Given the description of an element on the screen output the (x, y) to click on. 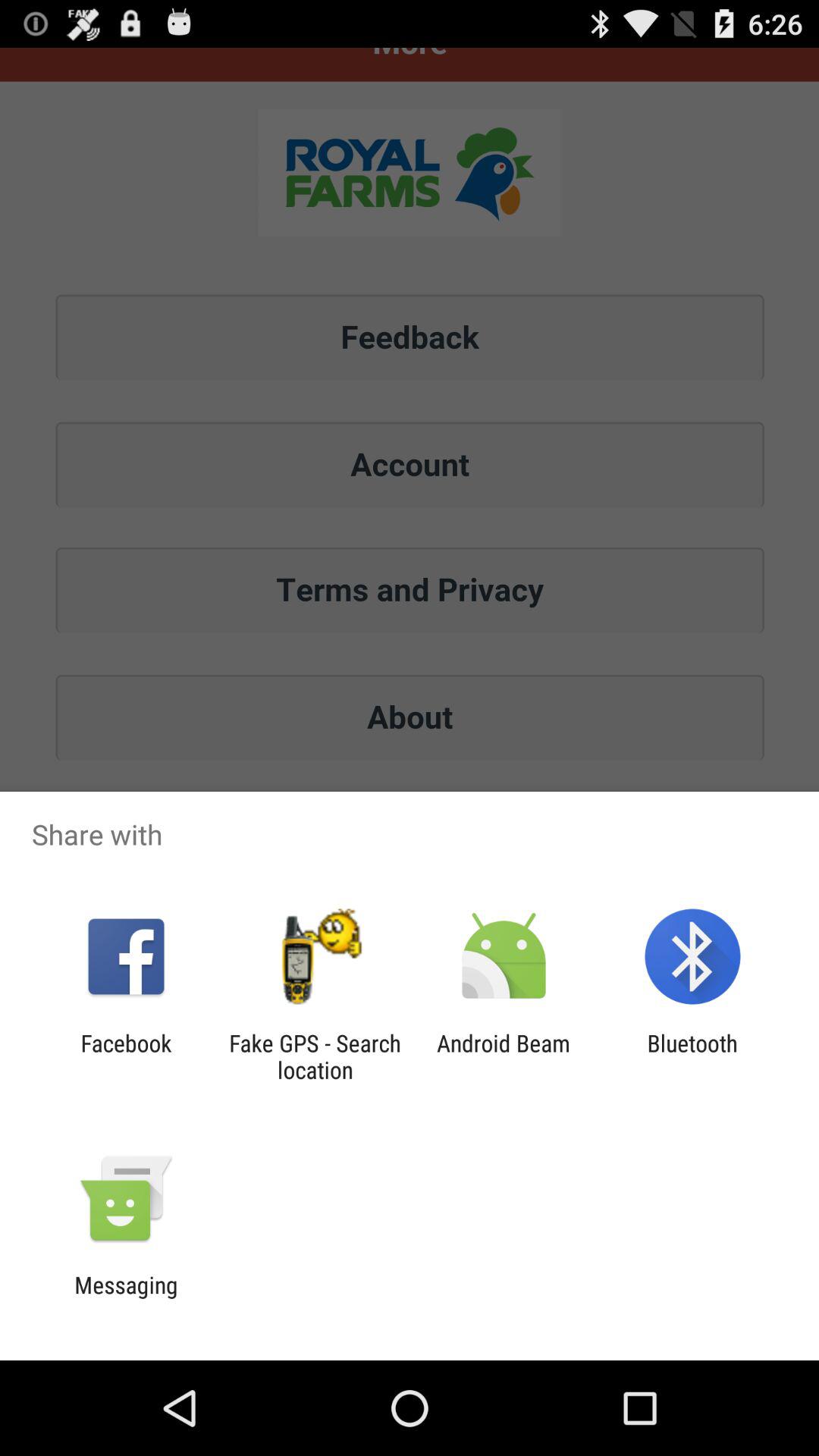
launch the item to the left of android beam icon (314, 1056)
